Given the description of an element on the screen output the (x, y) to click on. 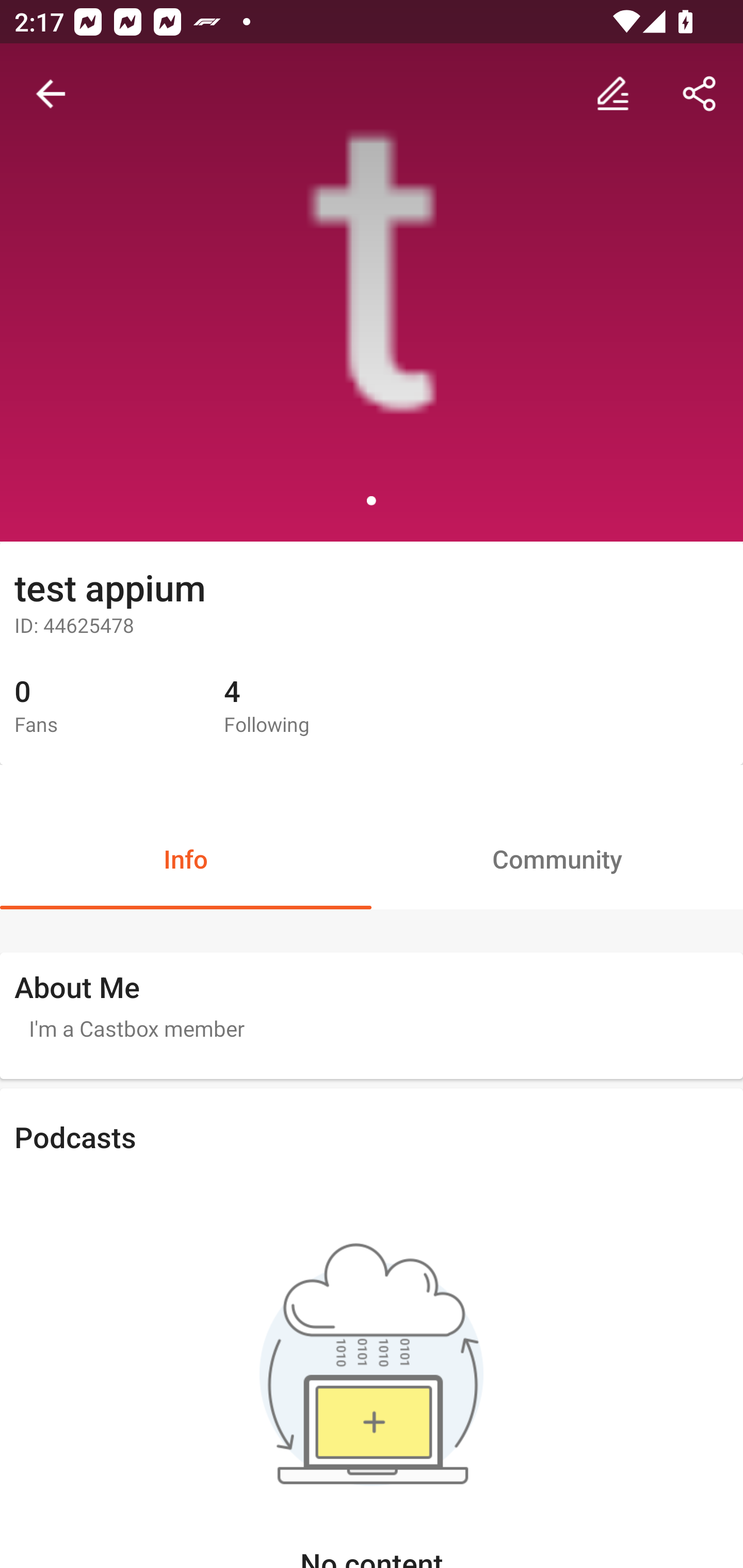
Navigate up (50, 93)
Edit (612, 93)
Share (699, 93)
0 Fans (104, 707)
4 Following (313, 707)
Info (185, 858)
Community (557, 858)
